Given the description of an element on the screen output the (x, y) to click on. 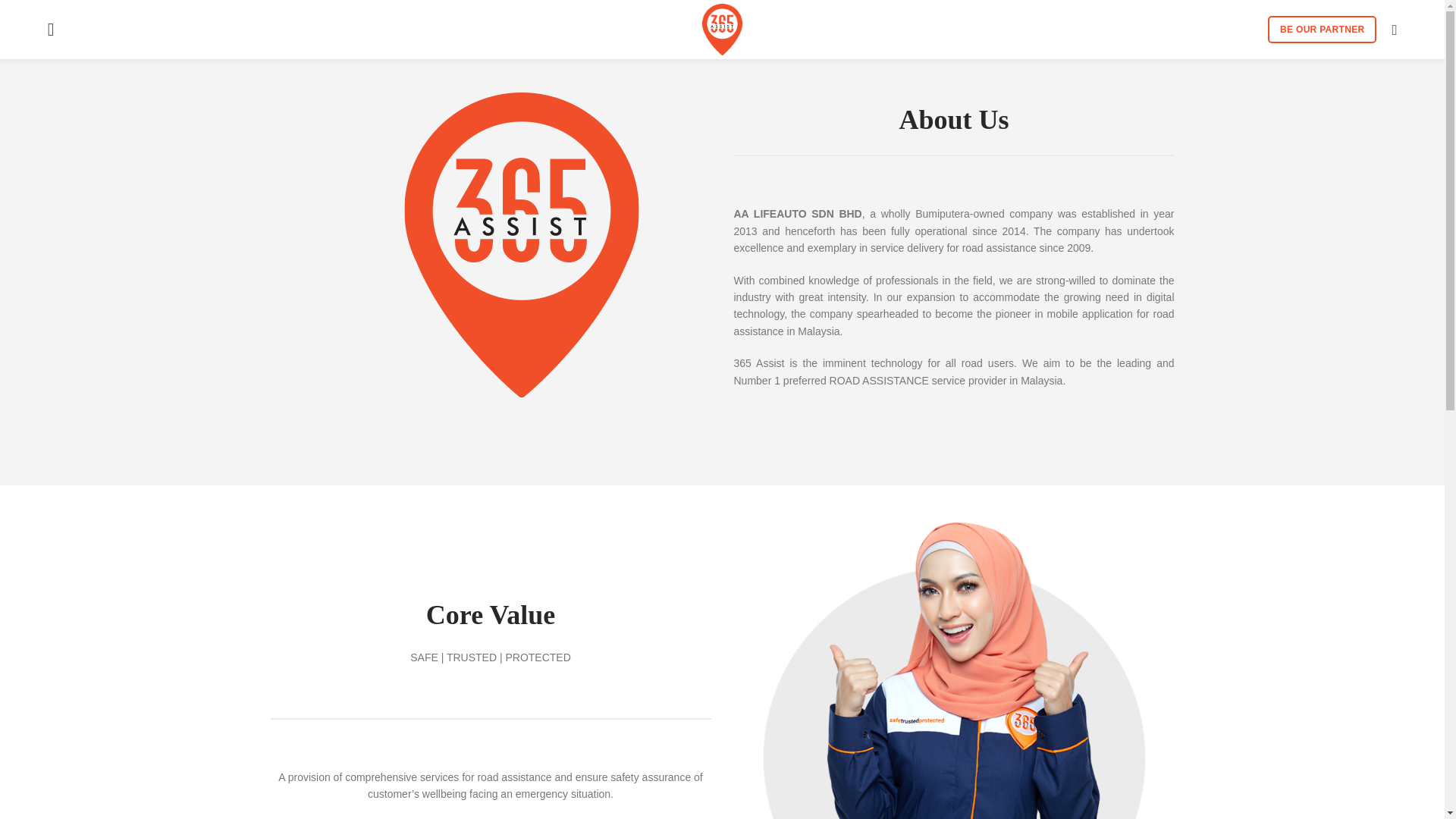
BE OUR PARTNER (1321, 29)
